Given the description of an element on the screen output the (x, y) to click on. 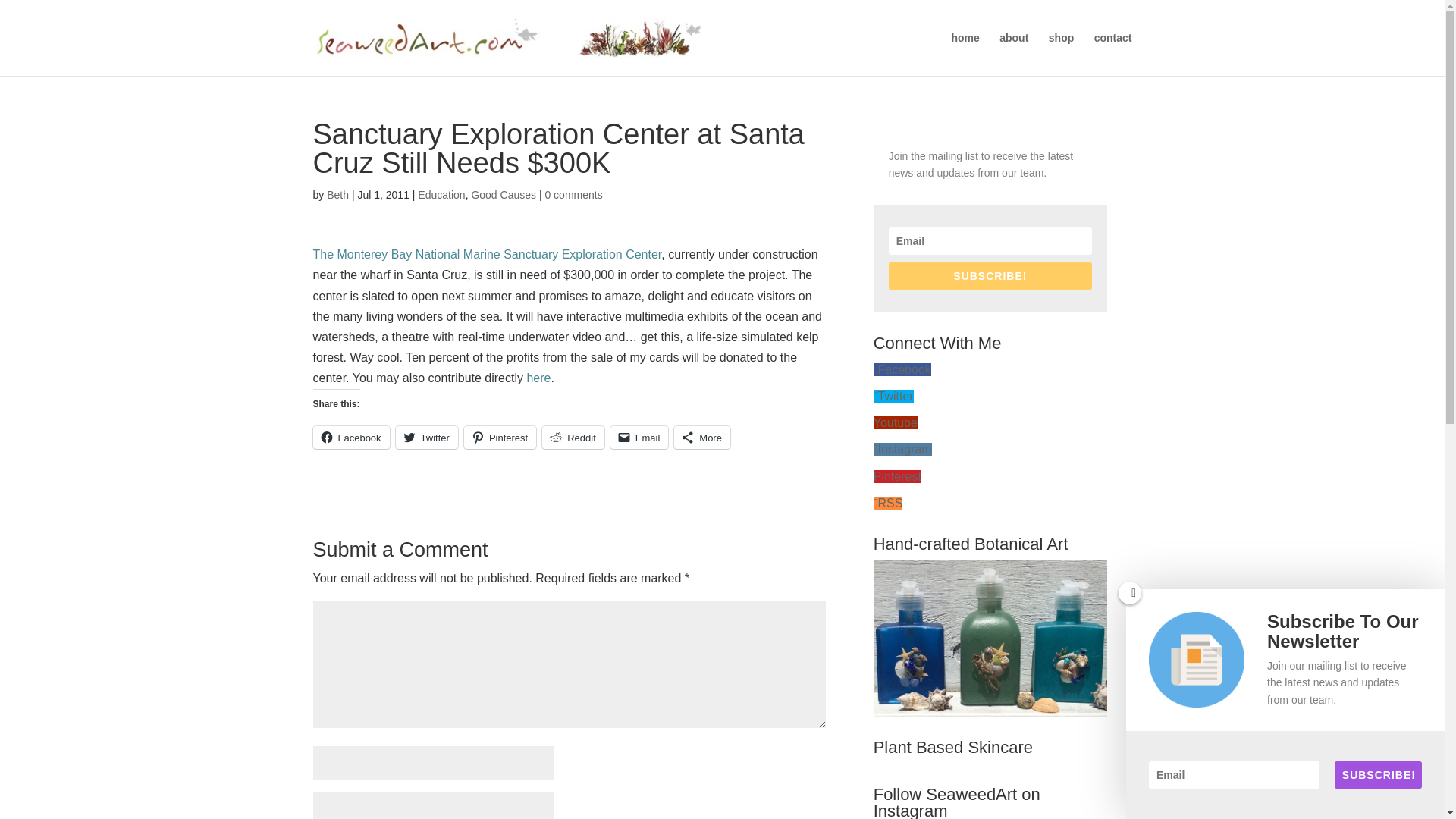
Youtube (895, 422)
Email (639, 436)
Facebook (902, 369)
Twitter (893, 395)
Good Causes (502, 194)
Instagram (902, 449)
Facebook (350, 436)
RSS (887, 502)
Click to share on Pinterest (499, 436)
RSS (887, 502)
Beth (337, 194)
Click to email a link to a friend (639, 436)
Pinterest (499, 436)
More (702, 436)
